Given the description of an element on the screen output the (x, y) to click on. 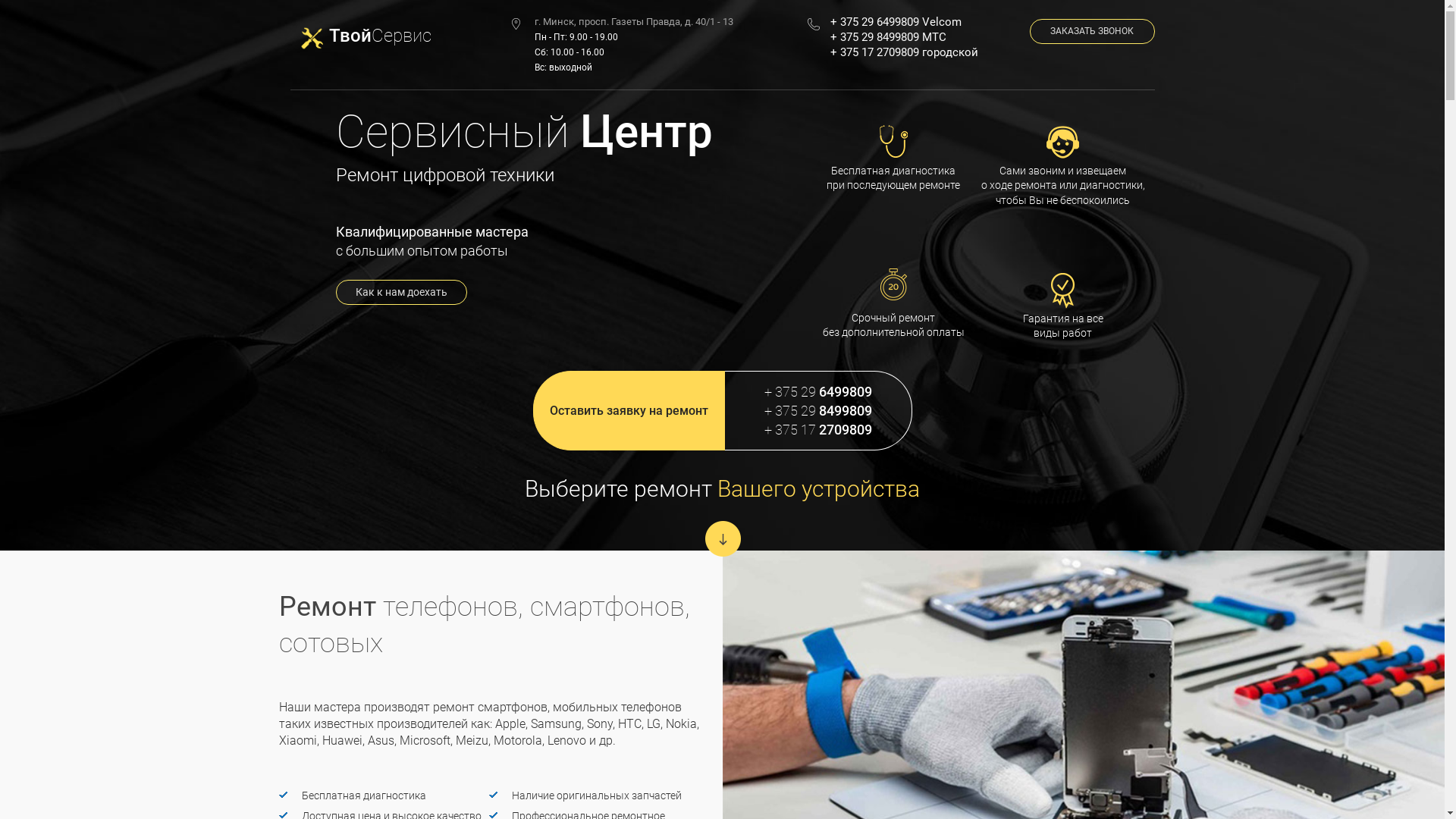
+ 375 29 8499809 MTC Element type: text (918, 36)
+ 375 29 6499809 Velcom Element type: text (918, 21)
